Given the description of an element on the screen output the (x, y) to click on. 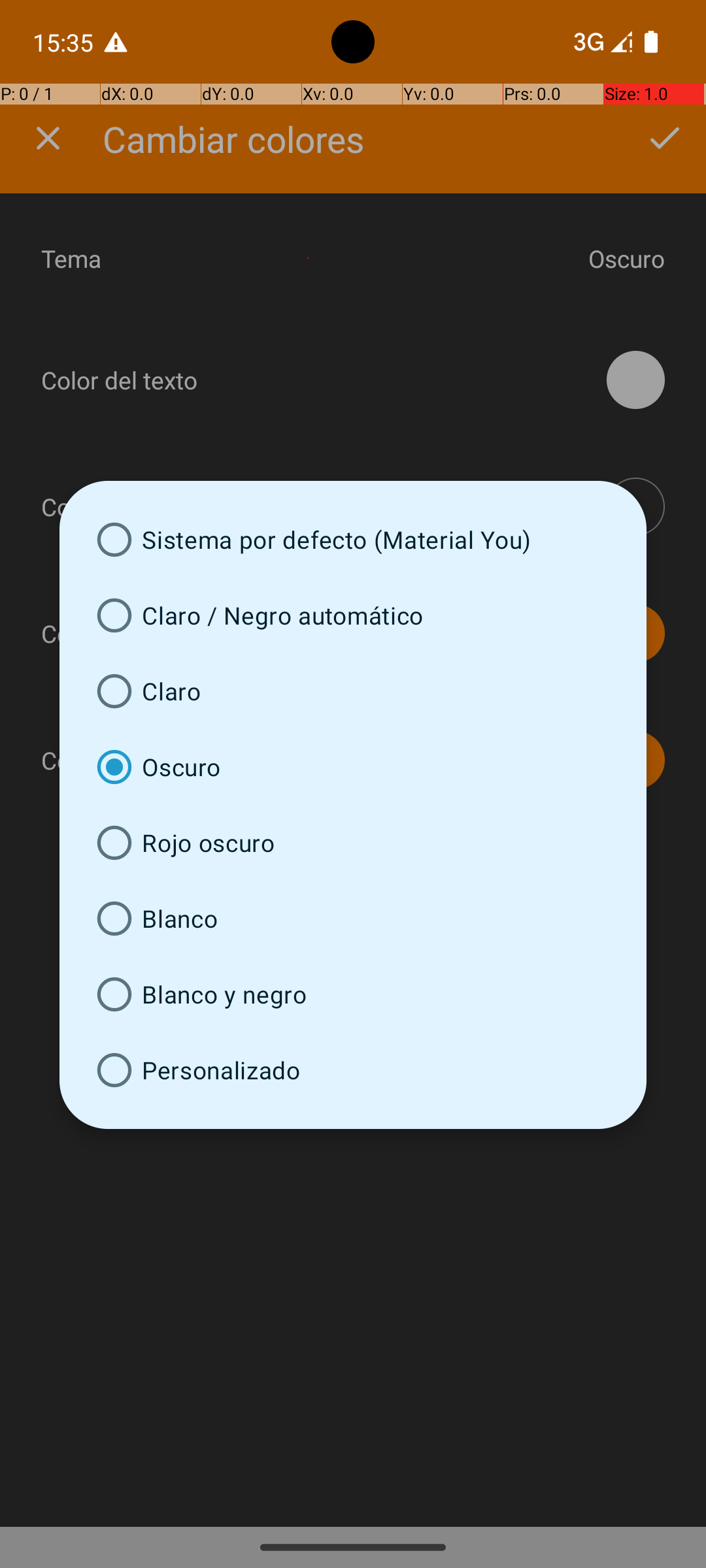
Sistema por defecto (Material You) Element type: android.widget.RadioButton (352, 539)
Claro / Negro automático Element type: android.widget.RadioButton (352, 615)
Claro Element type: android.widget.RadioButton (352, 691)
Oscuro Element type: android.widget.RadioButton (352, 766)
Rojo oscuro Element type: android.widget.RadioButton (352, 842)
Blanco Element type: android.widget.RadioButton (352, 918)
Blanco y negro Element type: android.widget.RadioButton (352, 994)
Personalizado Element type: android.widget.RadioButton (352, 1070)
